Given the description of an element on the screen output the (x, y) to click on. 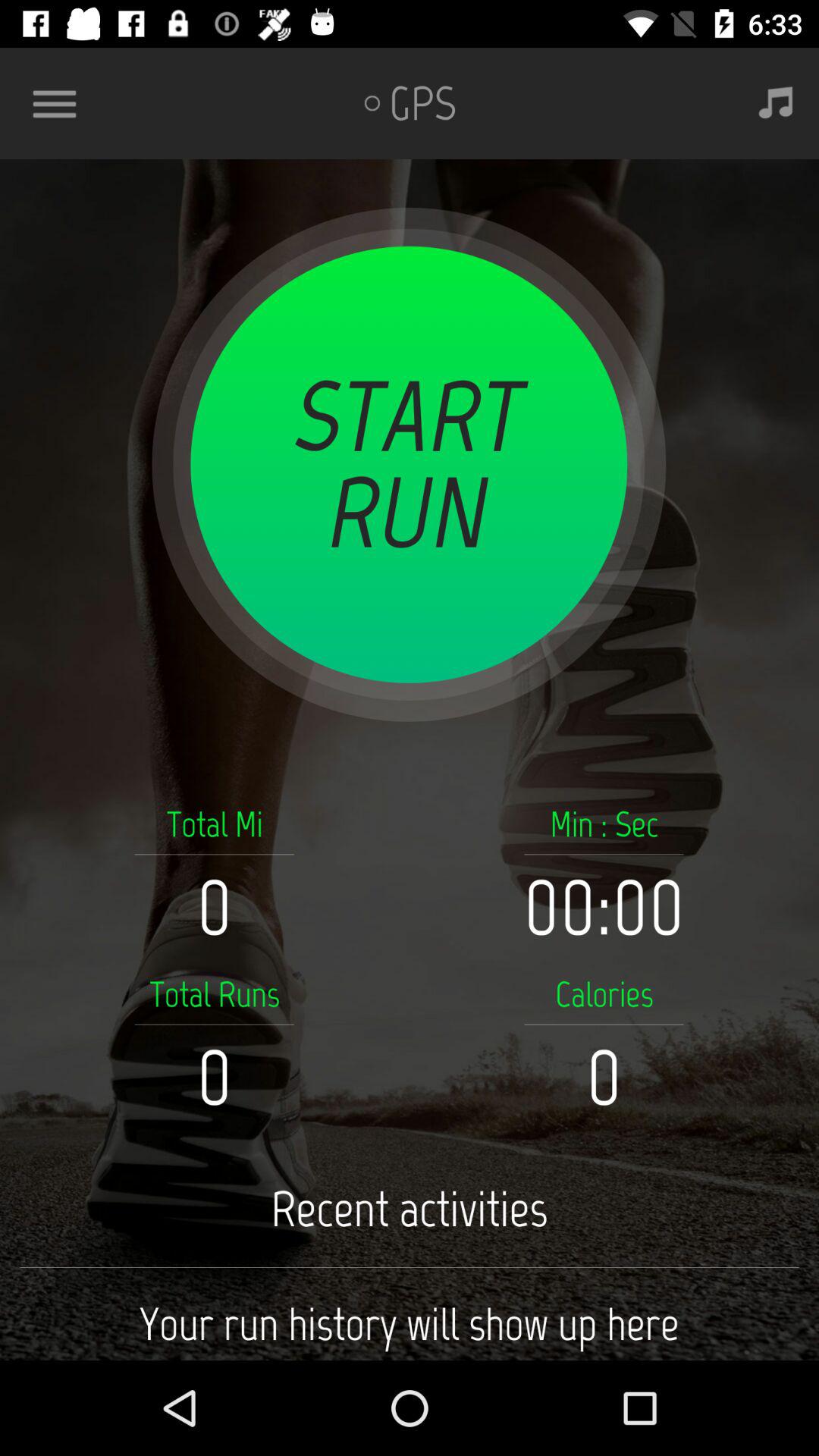
show the options avalible (60, 103)
